Given the description of an element on the screen output the (x, y) to click on. 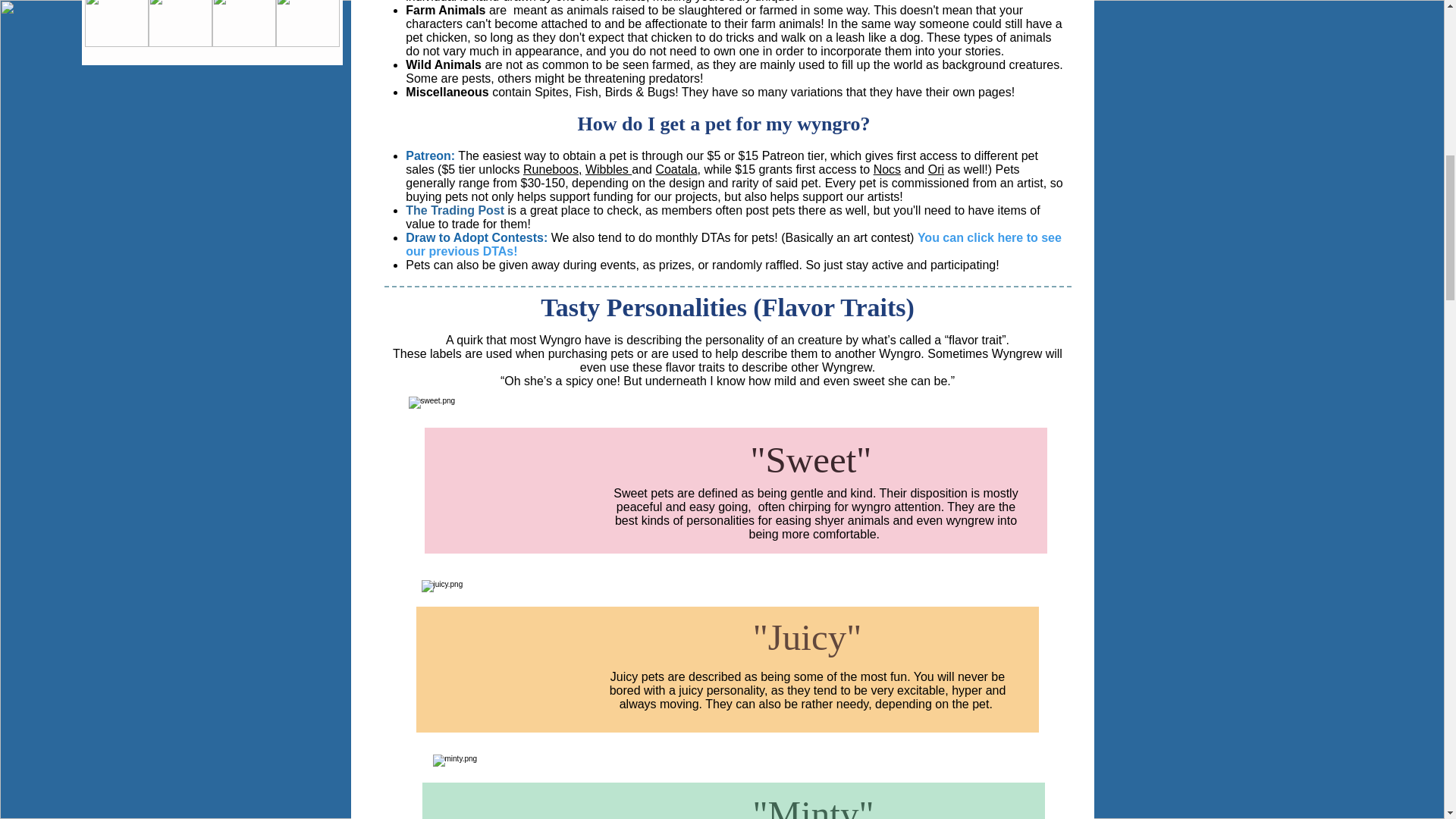
You can click here to see our previous DTAs! (733, 243)
Patreon (784, 155)
The Trading Post (454, 210)
